Given the description of an element on the screen output the (x, y) to click on. 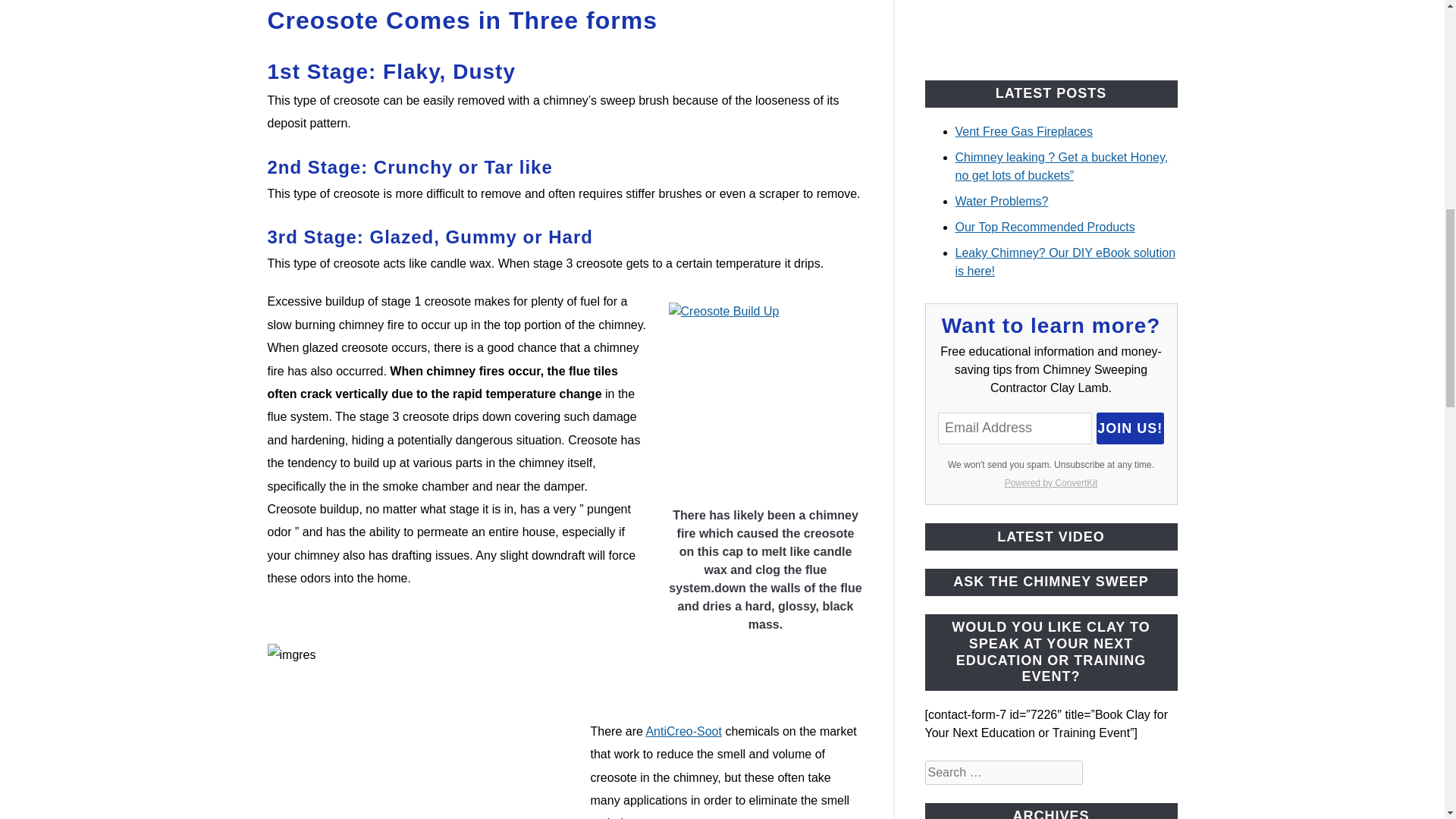
Stage Three Creosote (765, 399)
